Given the description of an element on the screen output the (x, y) to click on. 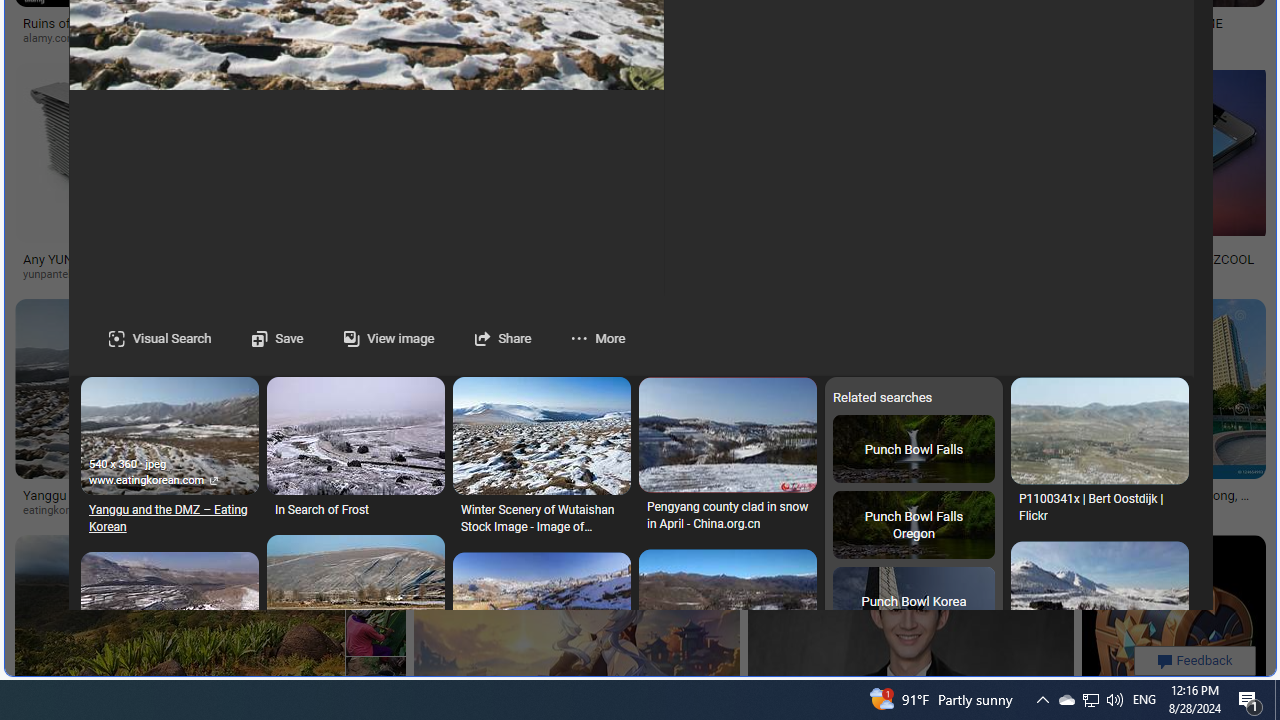
ebth.com (392, 273)
vecteezy.com (296, 509)
Visual Search (159, 338)
Punch Bowl Falls Oregon (913, 525)
Image result for guge yunpan (1173, 625)
